Given the description of an element on the screen output the (x, y) to click on. 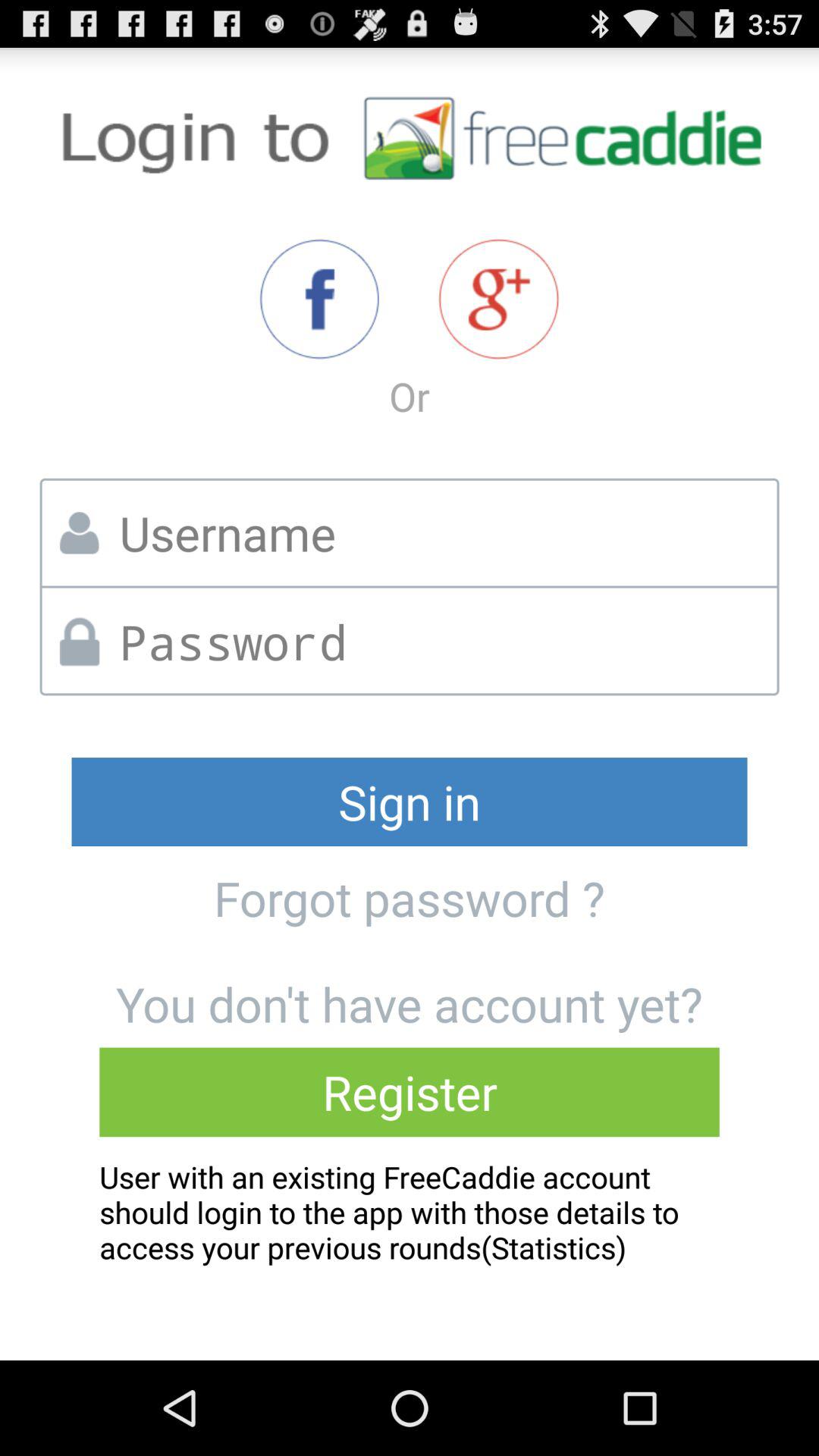
facebook app (318, 298)
